Given the description of an element on the screen output the (x, y) to click on. 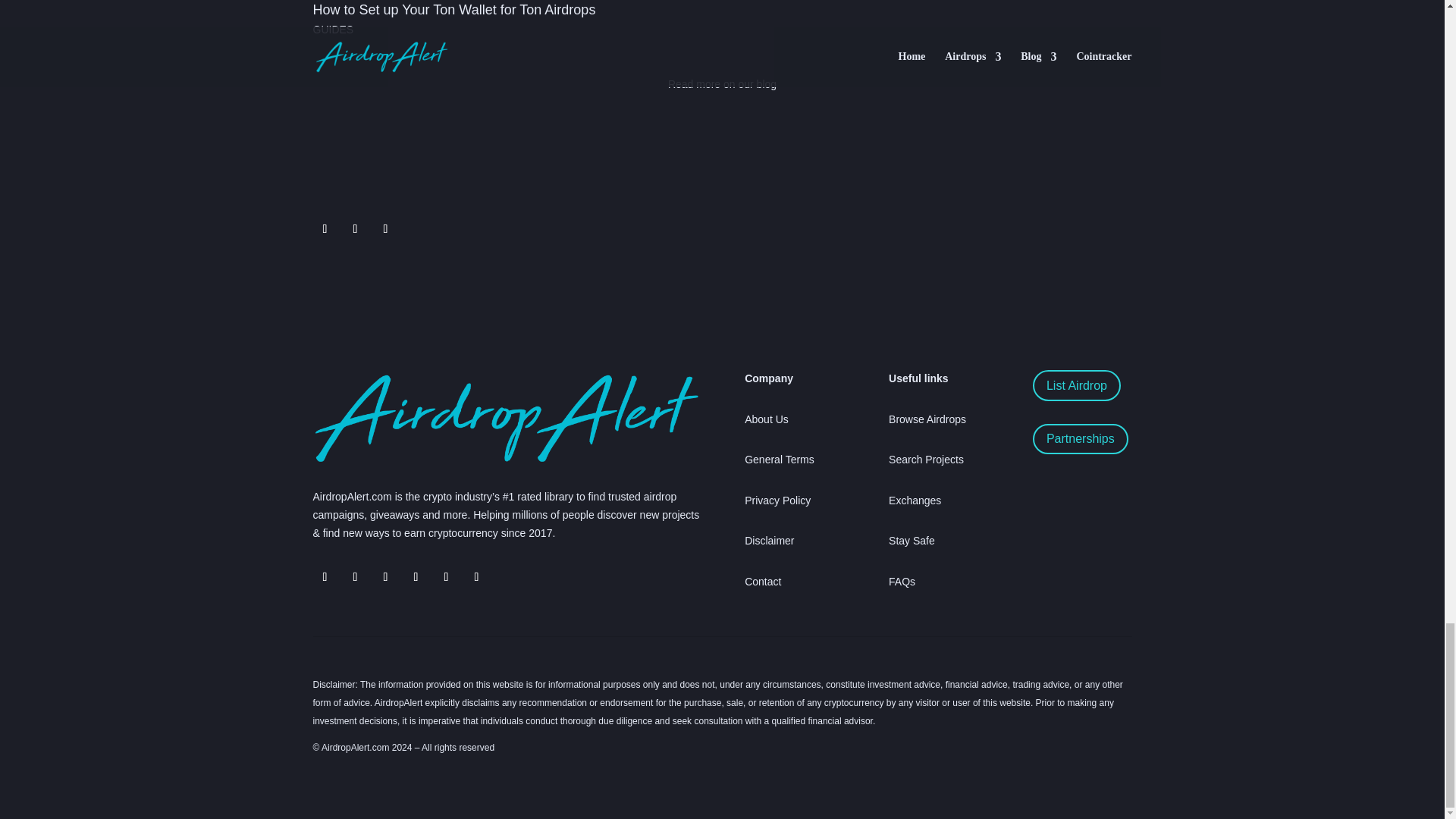
Follow on Instagram (415, 576)
Follow on Facebook (384, 228)
Follow on Telegram (354, 228)
Follow on X (354, 576)
Follow on Facebook (384, 576)
airdrop-alert-logo (505, 418)
Follow on X (324, 228)
Follow on Telegram (324, 576)
Follow on Youtube (445, 576)
